Given the description of an element on the screen output the (x, y) to click on. 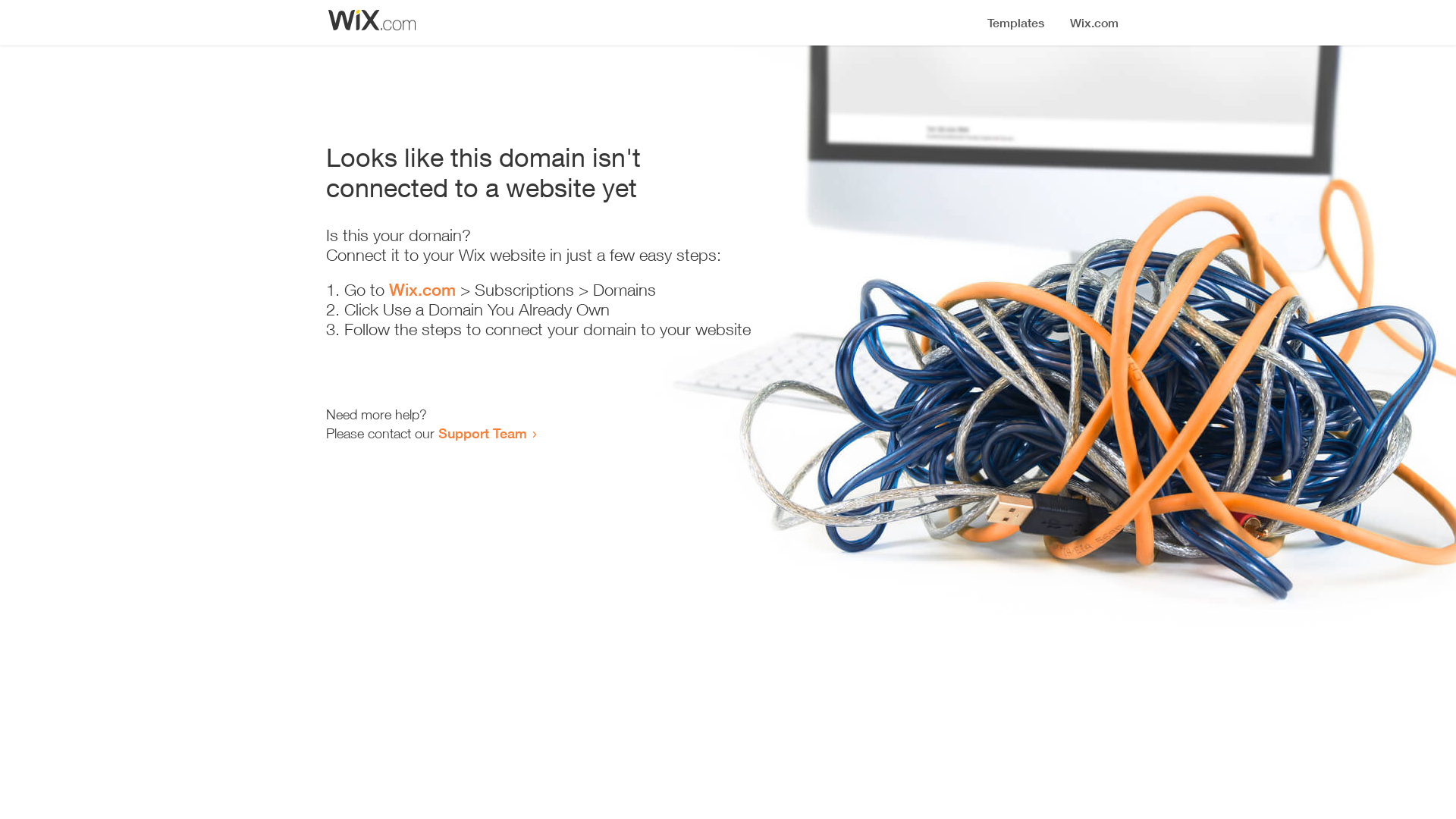
Support Team Element type: text (482, 432)
Wix.com Element type: text (422, 289)
